Given the description of an element on the screen output the (x, y) to click on. 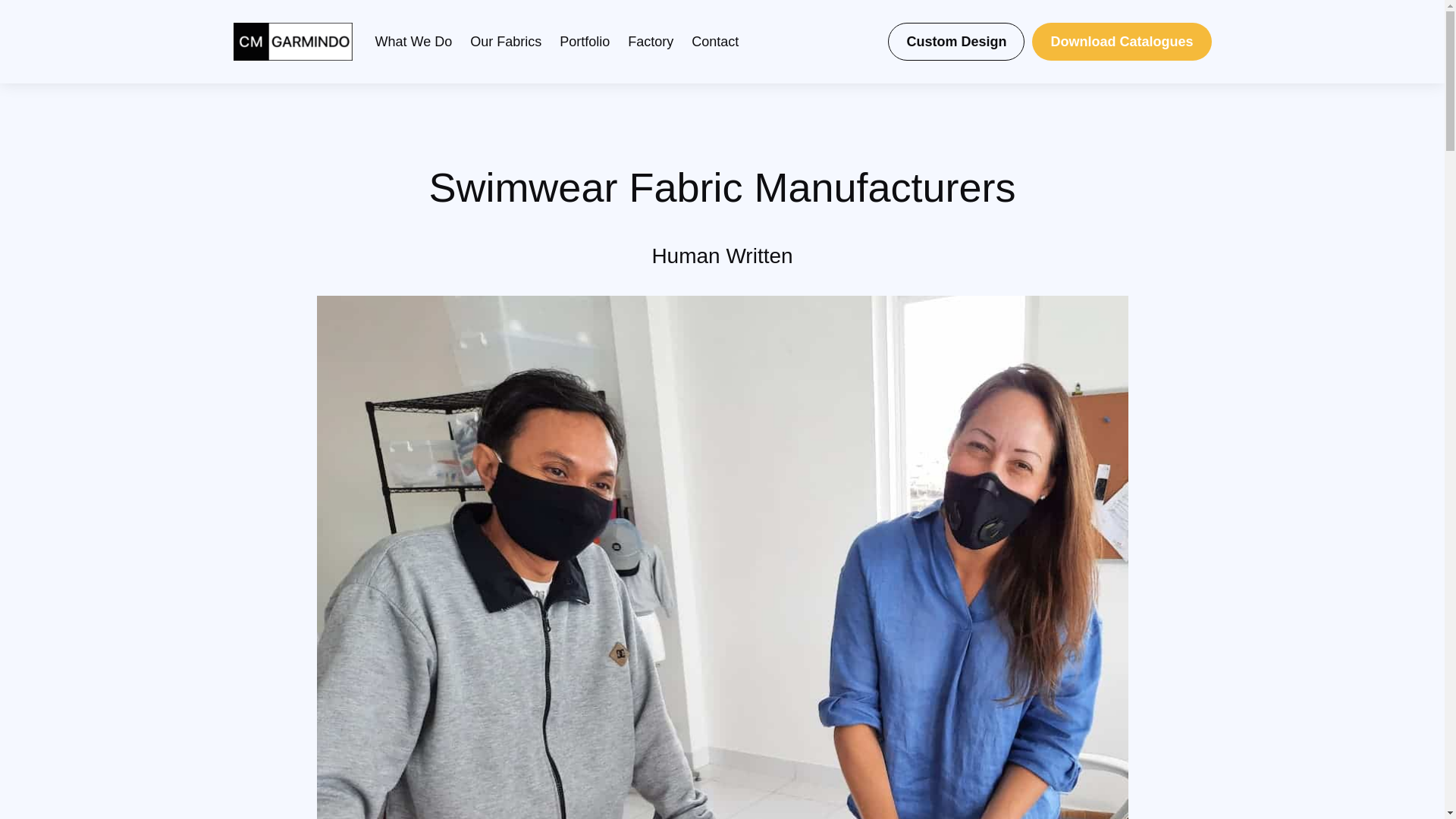
Custom Design (956, 41)
Contact (714, 42)
Download Catalogues (1121, 41)
Factory (649, 42)
What We Do (412, 42)
Portfolio (584, 42)
Our Fabrics (505, 42)
